Given the description of an element on the screen output the (x, y) to click on. 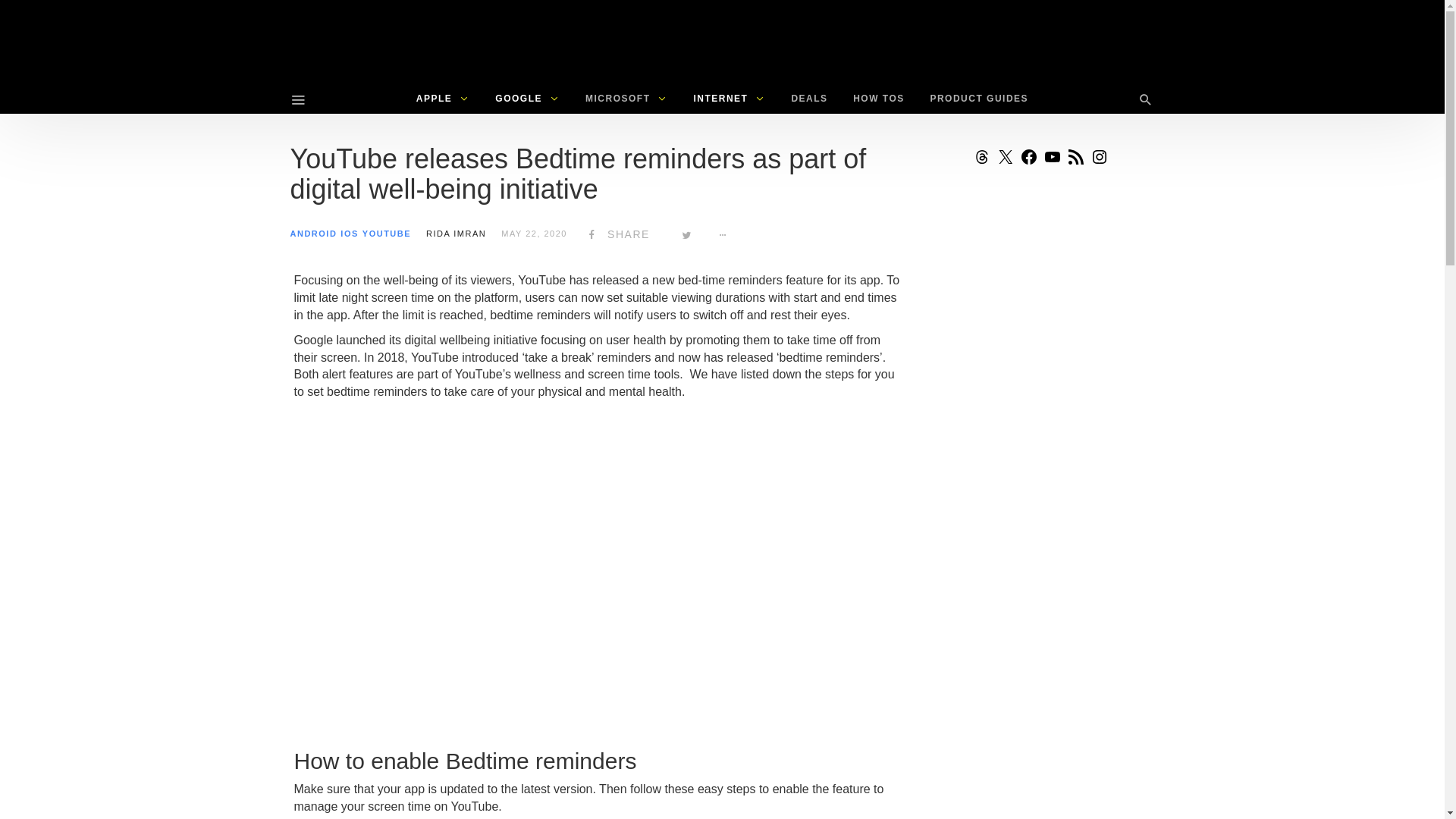
RIDA IMRAN (456, 233)
GOOGLE (526, 98)
PRODUCT GUIDES (978, 98)
View all posts in Android (312, 233)
MICROSOFT (626, 98)
Posts by Rida Imran (456, 233)
Share on Facebook (616, 234)
IOS (349, 233)
ANDROID (312, 233)
INTERNET (728, 98)
